Given the description of an element on the screen output the (x, y) to click on. 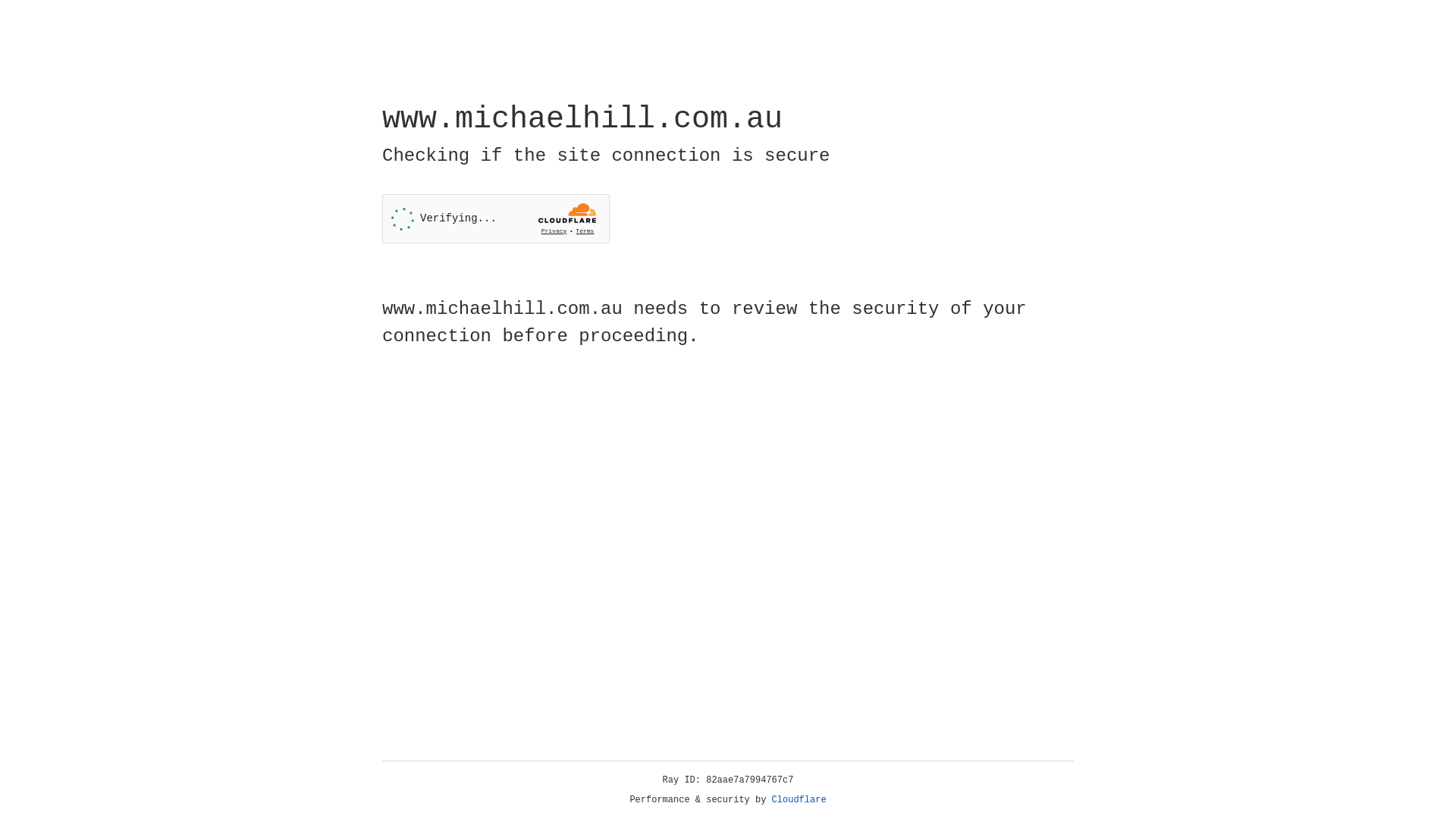
Cloudflare Element type: text (798, 799)
Widget containing a Cloudflare security challenge Element type: hover (495, 218)
